Given the description of an element on the screen output the (x, y) to click on. 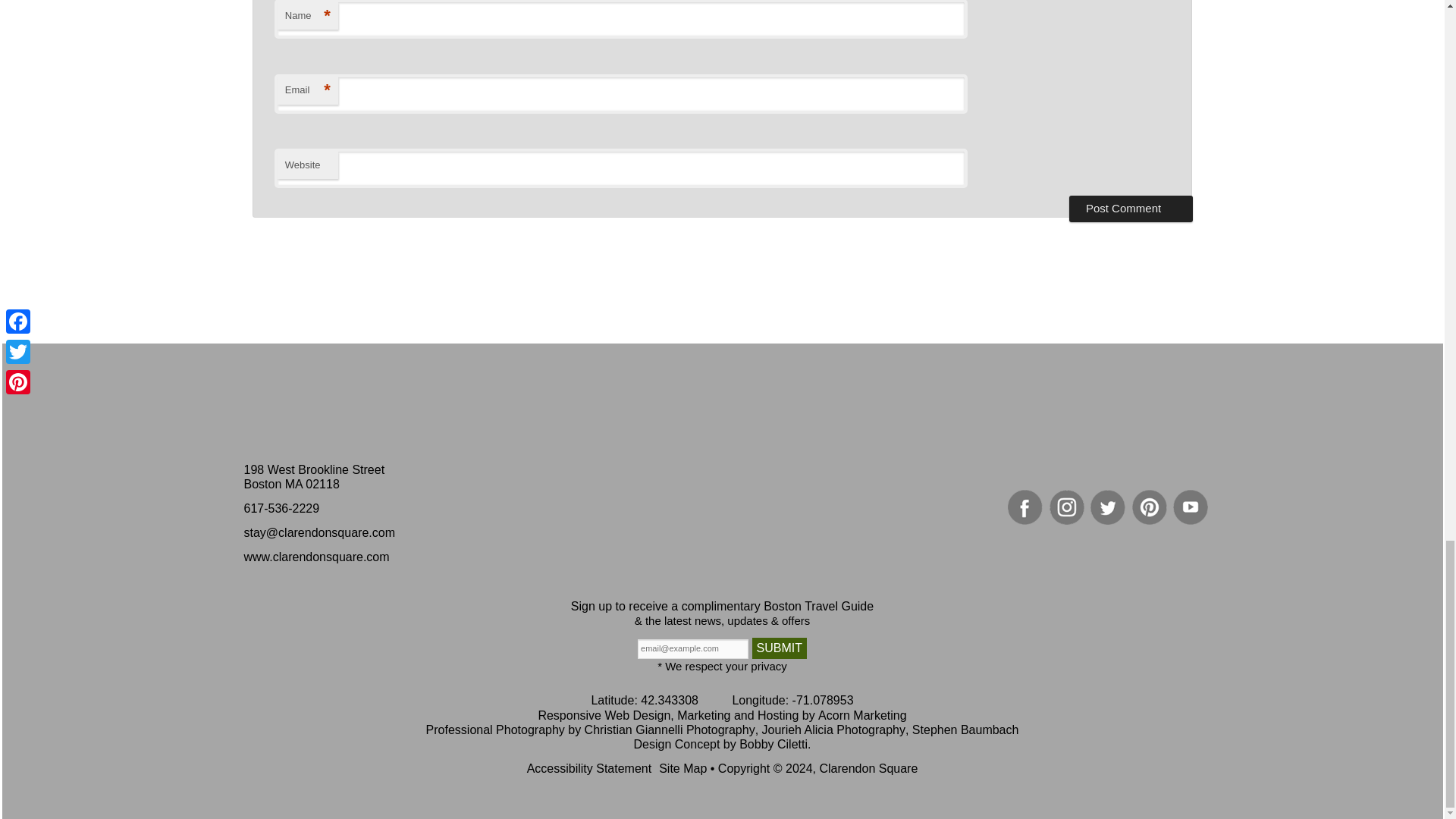
See us on Instagram (1066, 506)
Submit (779, 648)
Follow us on Twitter (1107, 506)
Pin us on Pinterest (1149, 506)
Like us on Facebook (1024, 506)
Post Comment (1130, 208)
View our YouTube Channel (1190, 506)
